Given the description of an element on the screen output the (x, y) to click on. 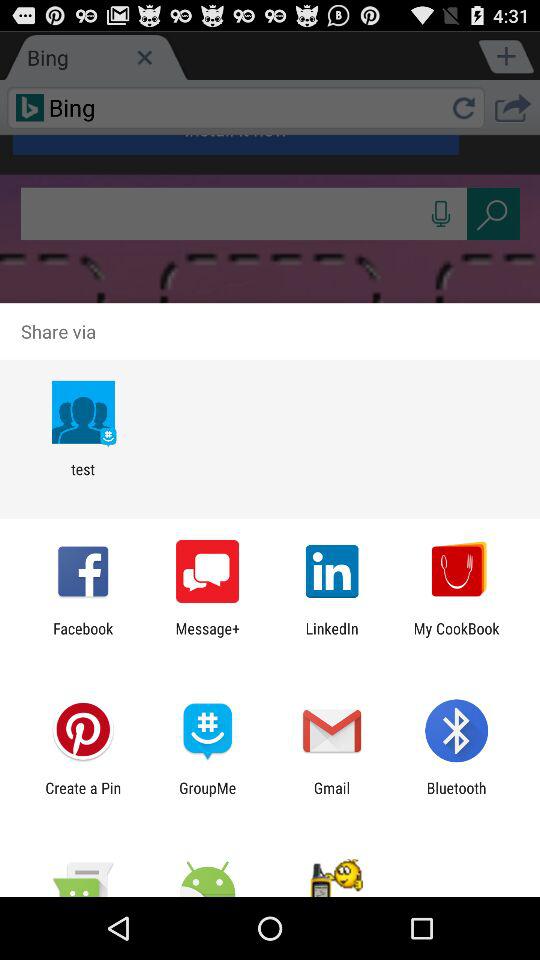
select item next to the facebook item (207, 637)
